Given the description of an element on the screen output the (x, y) to click on. 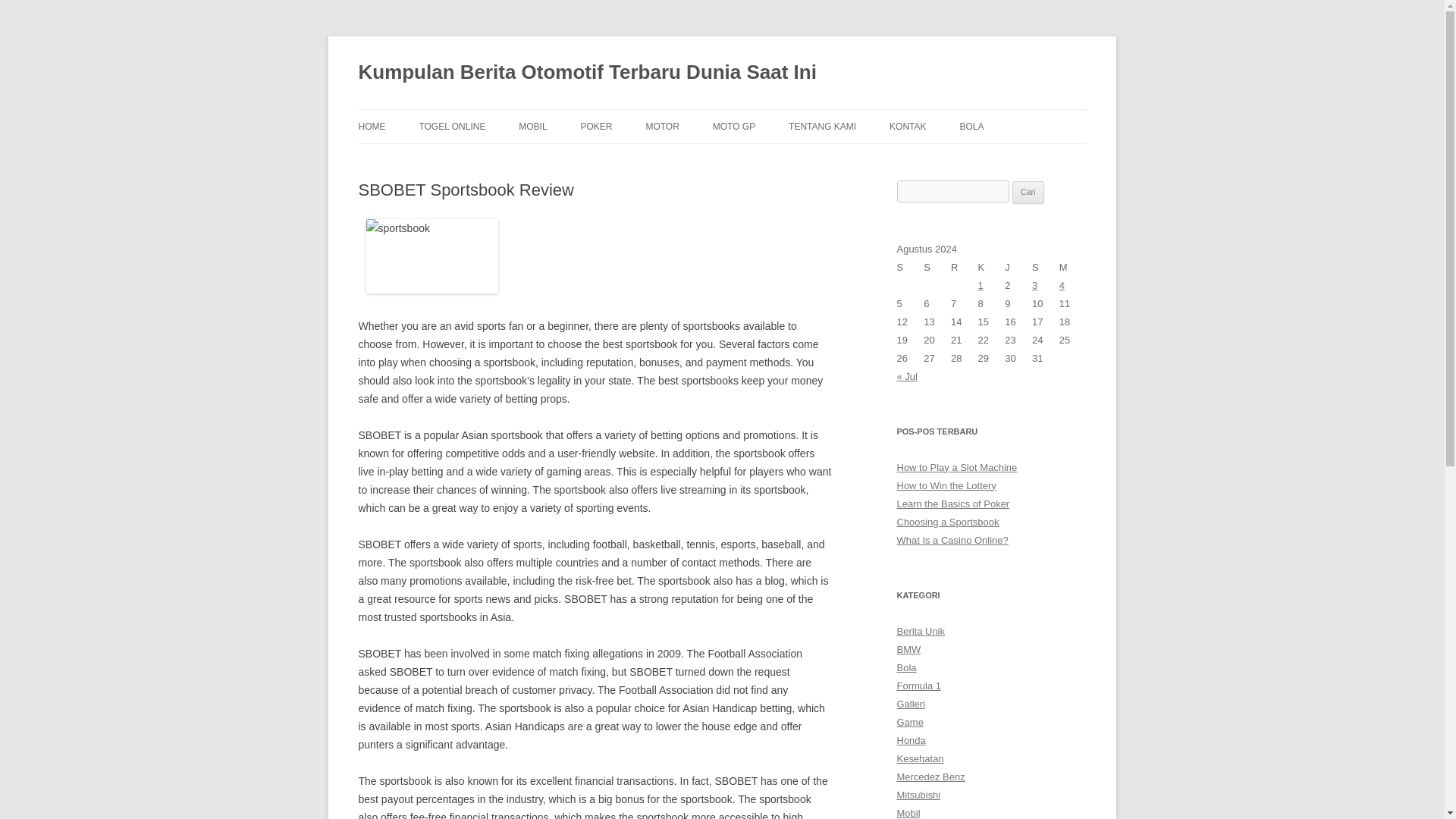
galeri mobil-mobil mewah di dunia (910, 704)
BOLA (593, 158)
keluaran terbaru mobil honda (910, 740)
1 (981, 285)
Kamis (992, 267)
Berita Unik (920, 631)
How to Win the Lottery (945, 485)
Kumpulan Berita Otomotif Terbaru Dunia Saat Ini (586, 72)
4 (1061, 285)
Selasa (936, 267)
Galleri (910, 704)
BOLA (971, 126)
Sabtu (1045, 267)
